Given the description of an element on the screen output the (x, y) to click on. 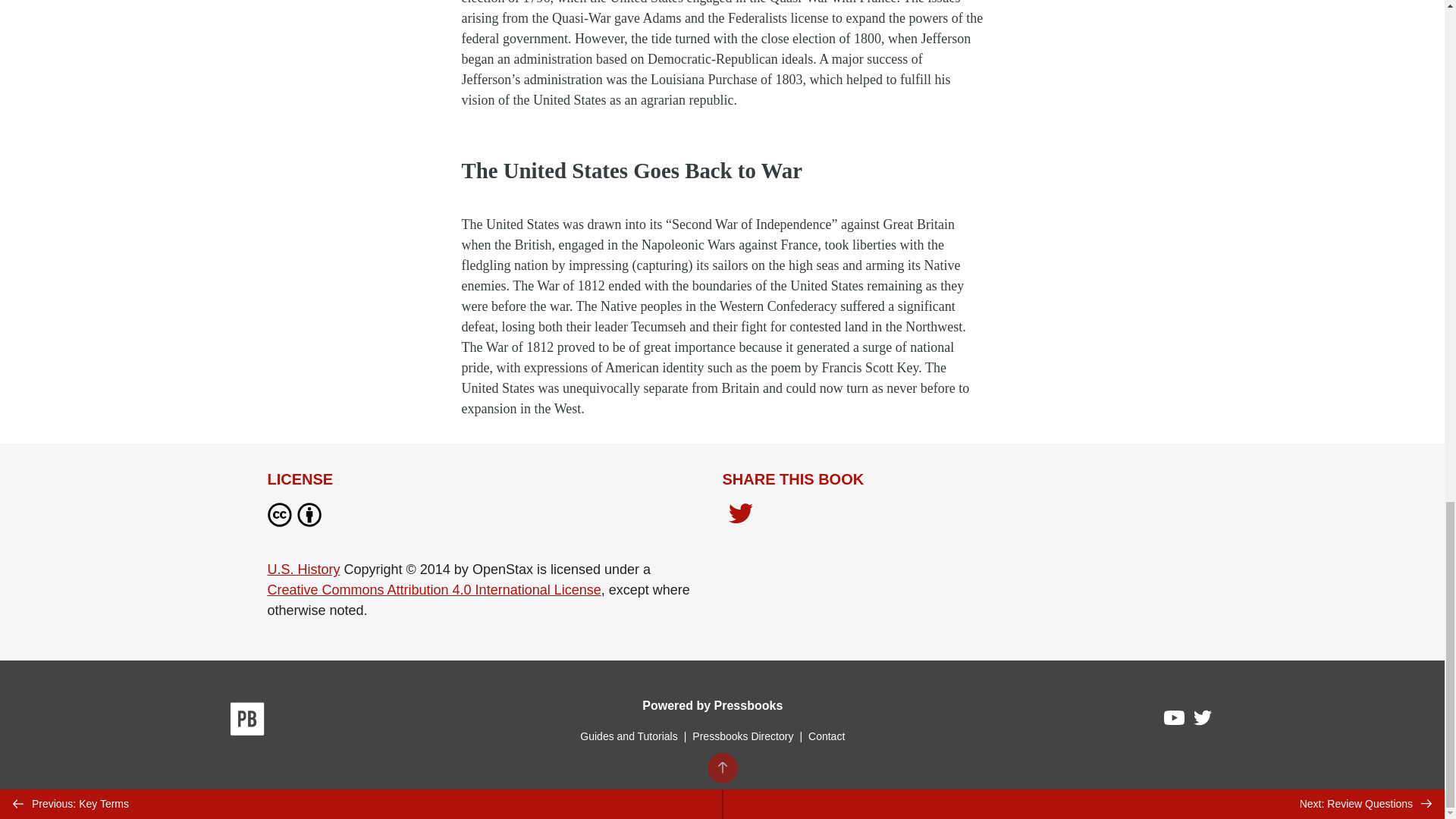
Creative Commons Attribution 4.0 International License (432, 589)
Guides and Tutorials (627, 736)
Share on Twitter (740, 517)
Pressbooks on YouTube (1174, 721)
Pressbooks Directory (742, 736)
Share on Twitter (740, 514)
U.S. History (302, 569)
Powered by Pressbooks (712, 705)
Contact (826, 736)
